Given the description of an element on the screen output the (x, y) to click on. 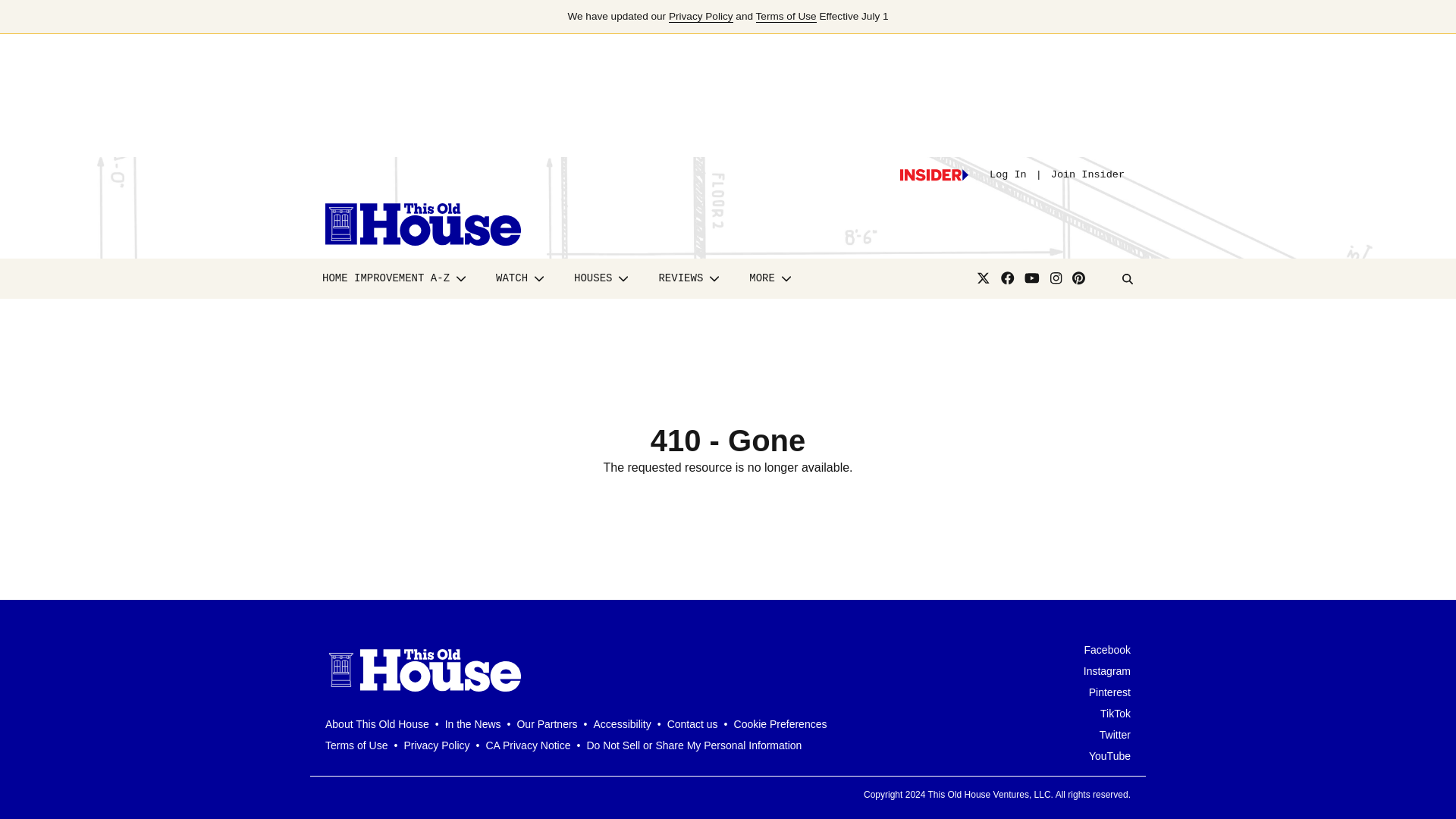
Privacy Policy (700, 16)
Terms of Use (785, 16)
Log In (1008, 174)
Join Insider (1087, 174)
Log in or sign up (933, 174)
